Given the description of an element on the screen output the (x, y) to click on. 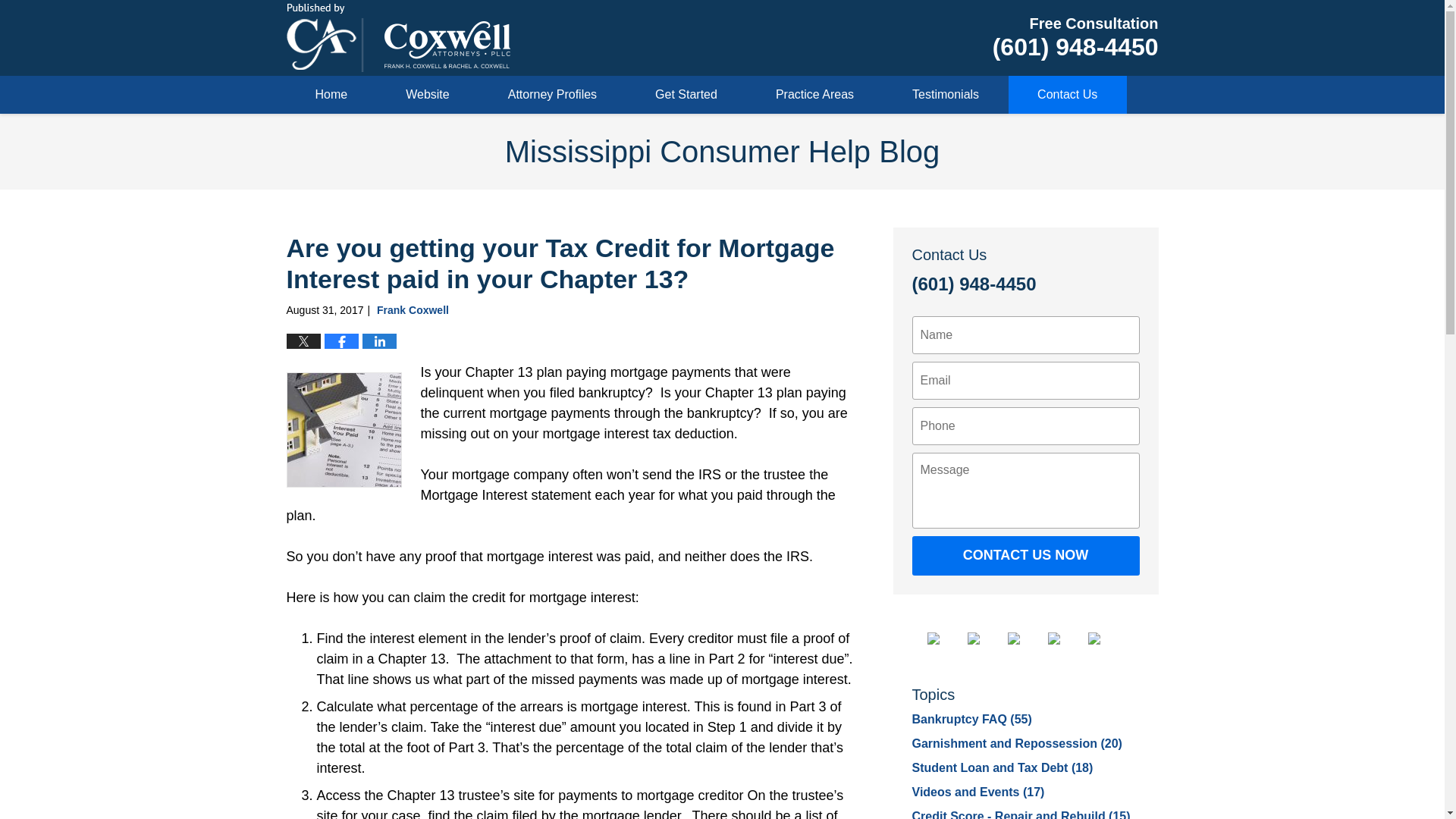
Yelp (1066, 638)
Get Started (686, 94)
CONTACT US NOW (1024, 555)
Home (331, 94)
Attorney Profiles (552, 94)
Practice Areas (814, 94)
Contact Us (1067, 94)
Please enter a valid phone number. (1024, 426)
Testimonials (946, 94)
Mississippi Consumer Help Blog (398, 38)
Justia (986, 638)
Frank Coxwell (412, 309)
Feed (1105, 638)
Facebook (944, 638)
Website (428, 94)
